Given the description of an element on the screen output the (x, y) to click on. 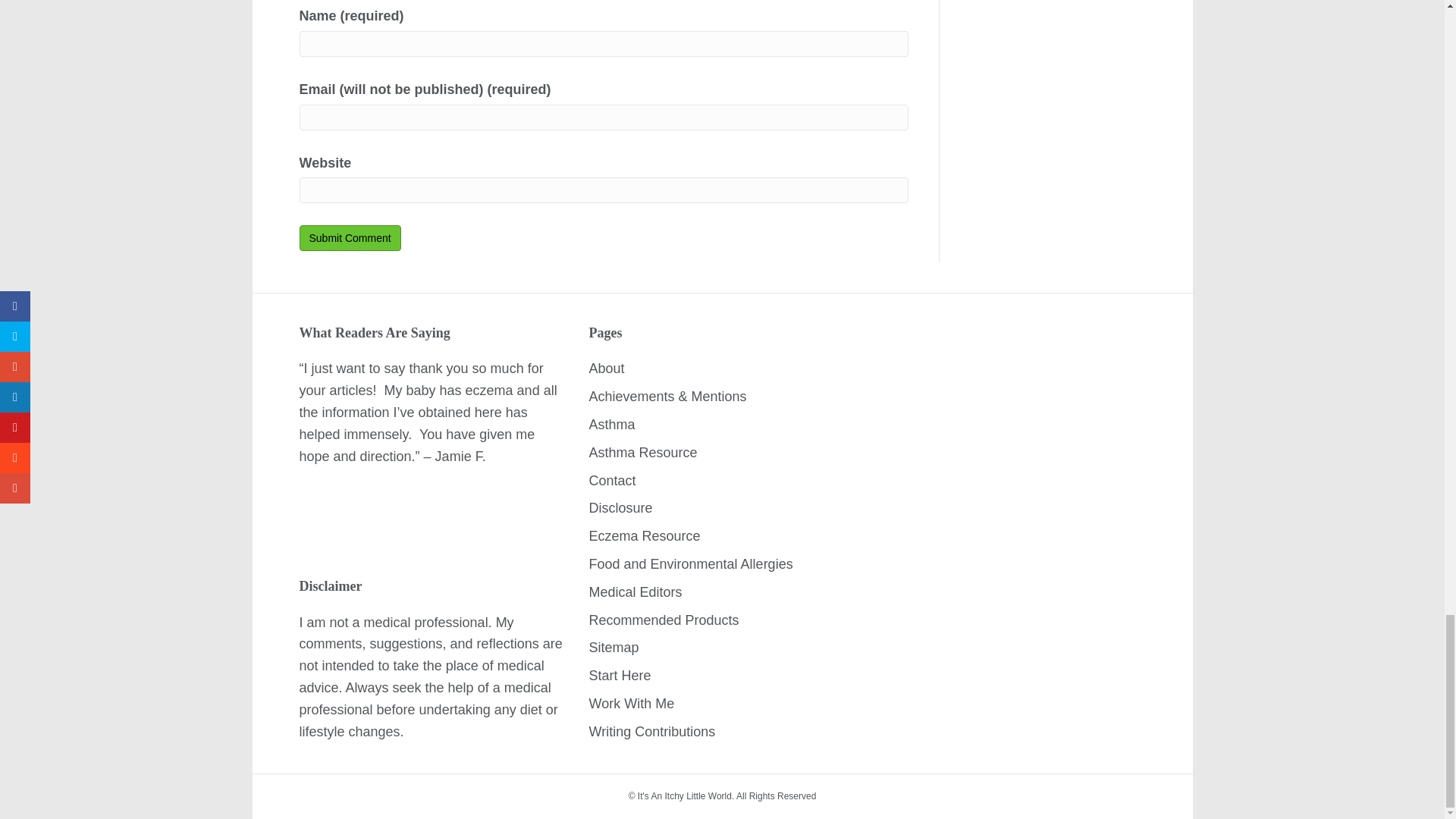
Submit Comment (349, 237)
